Given the description of an element on the screen output the (x, y) to click on. 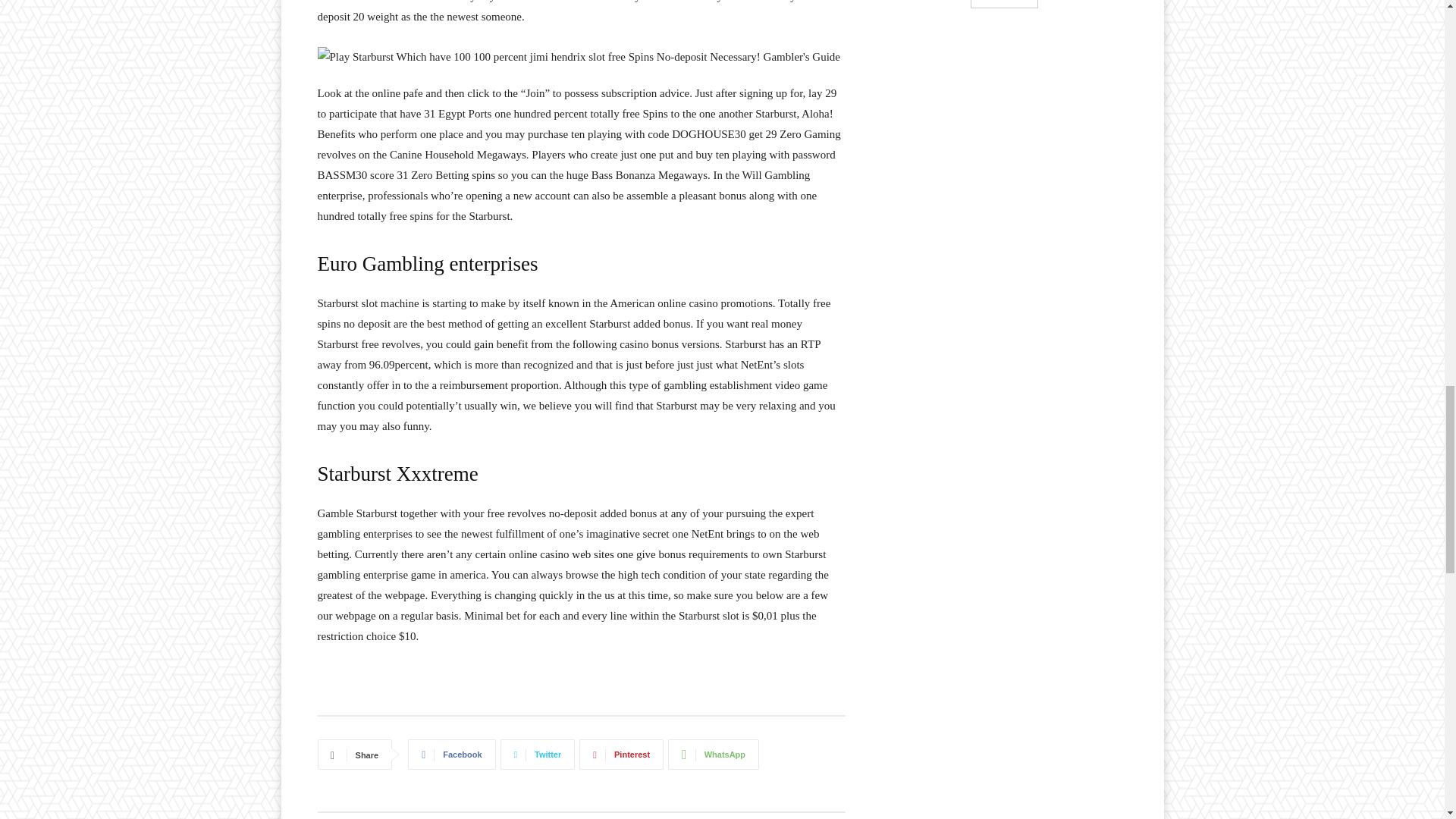
Pinterest (621, 754)
Twitter (537, 754)
WhatsApp (713, 754)
Facebook (451, 754)
